Given the description of an element on the screen output the (x, y) to click on. 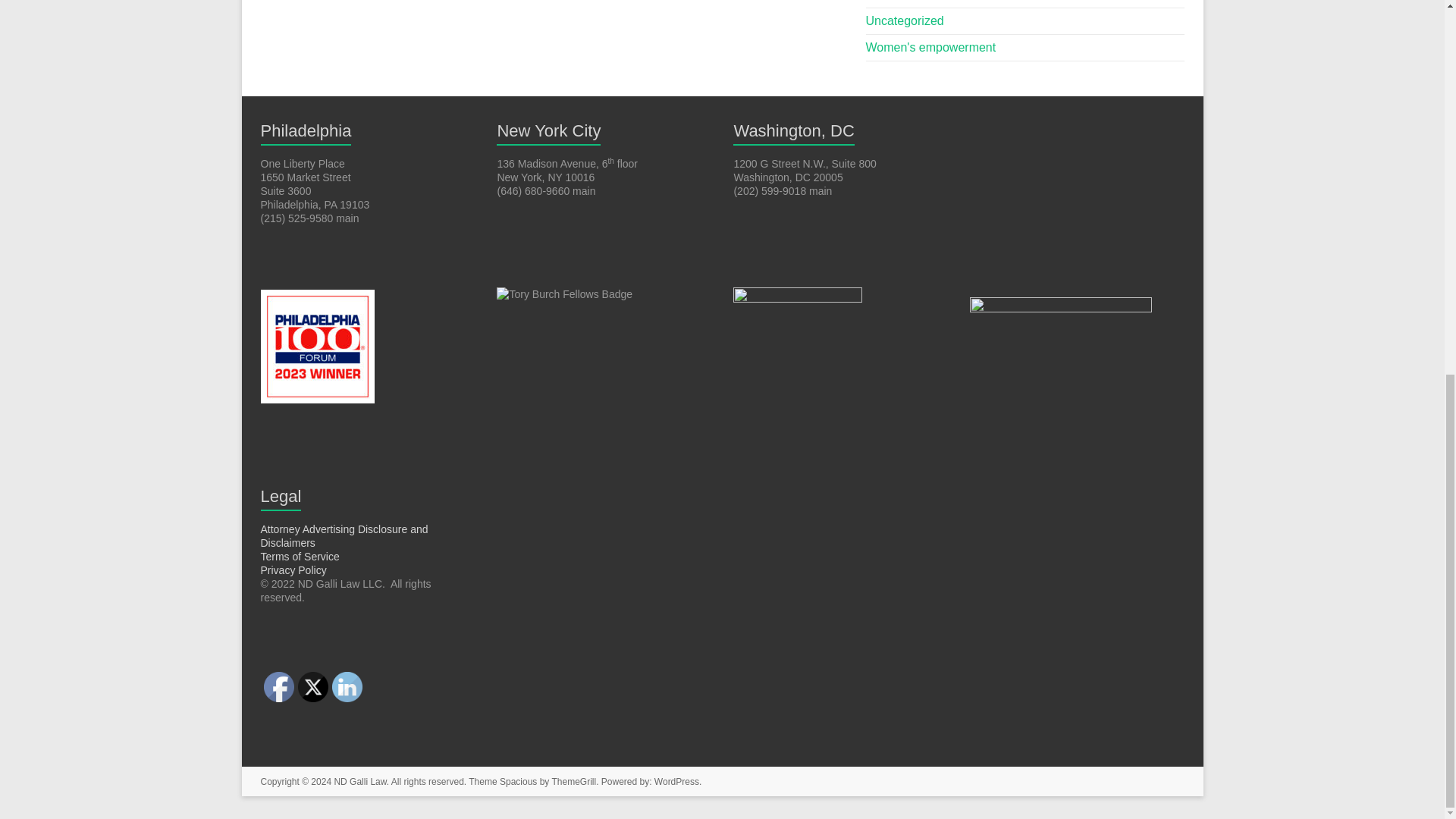
LinkedIn (346, 686)
Facebook (278, 686)
Spacious (518, 781)
Trademarks (898, 0)
WordPress (675, 781)
ND Galli Law (359, 781)
